Given the description of an element on the screen output the (x, y) to click on. 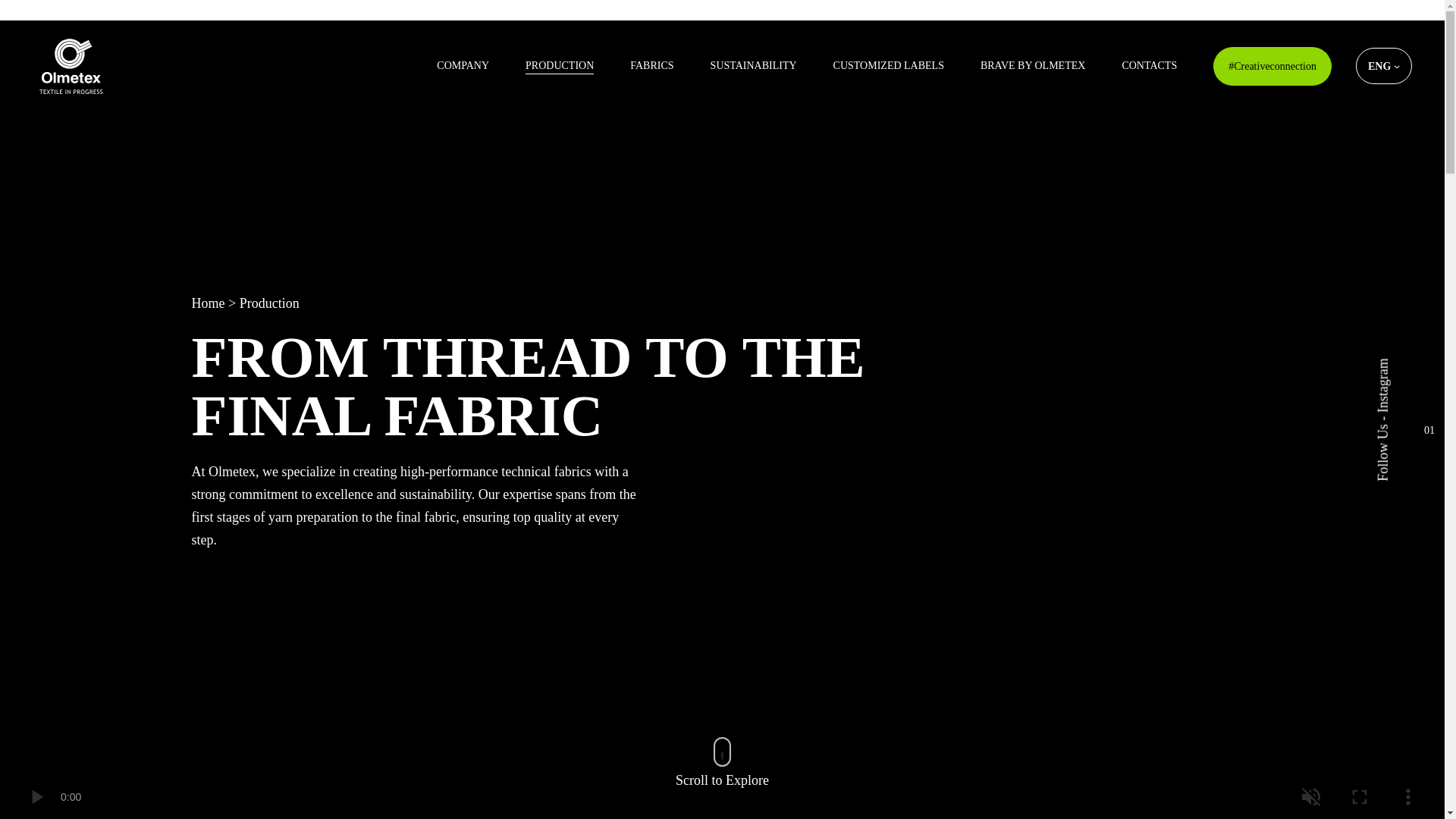
Home (207, 303)
FABRICS (651, 65)
Instagram (1401, 365)
CONTACTS (1148, 65)
COMPANY (462, 65)
BRAVE BY OLMETEX (1031, 65)
Scroll to Explore (722, 780)
CUSTOMIZED LABELS (887, 65)
SUSTAINABILITY (753, 65)
PRODUCTION (559, 65)
